Given the description of an element on the screen output the (x, y) to click on. 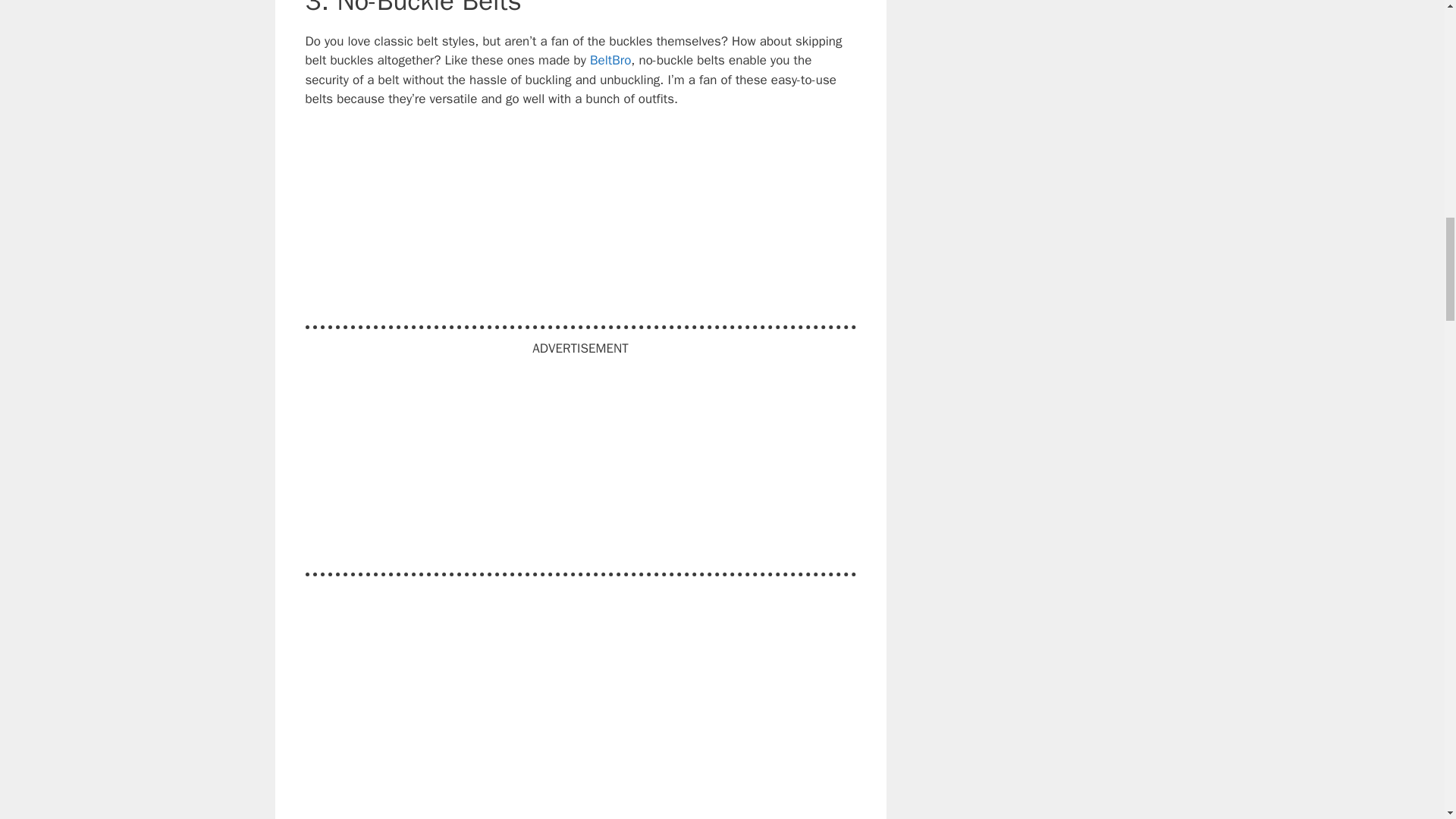
BeltBro (609, 59)
